Given the description of an element on the screen output the (x, y) to click on. 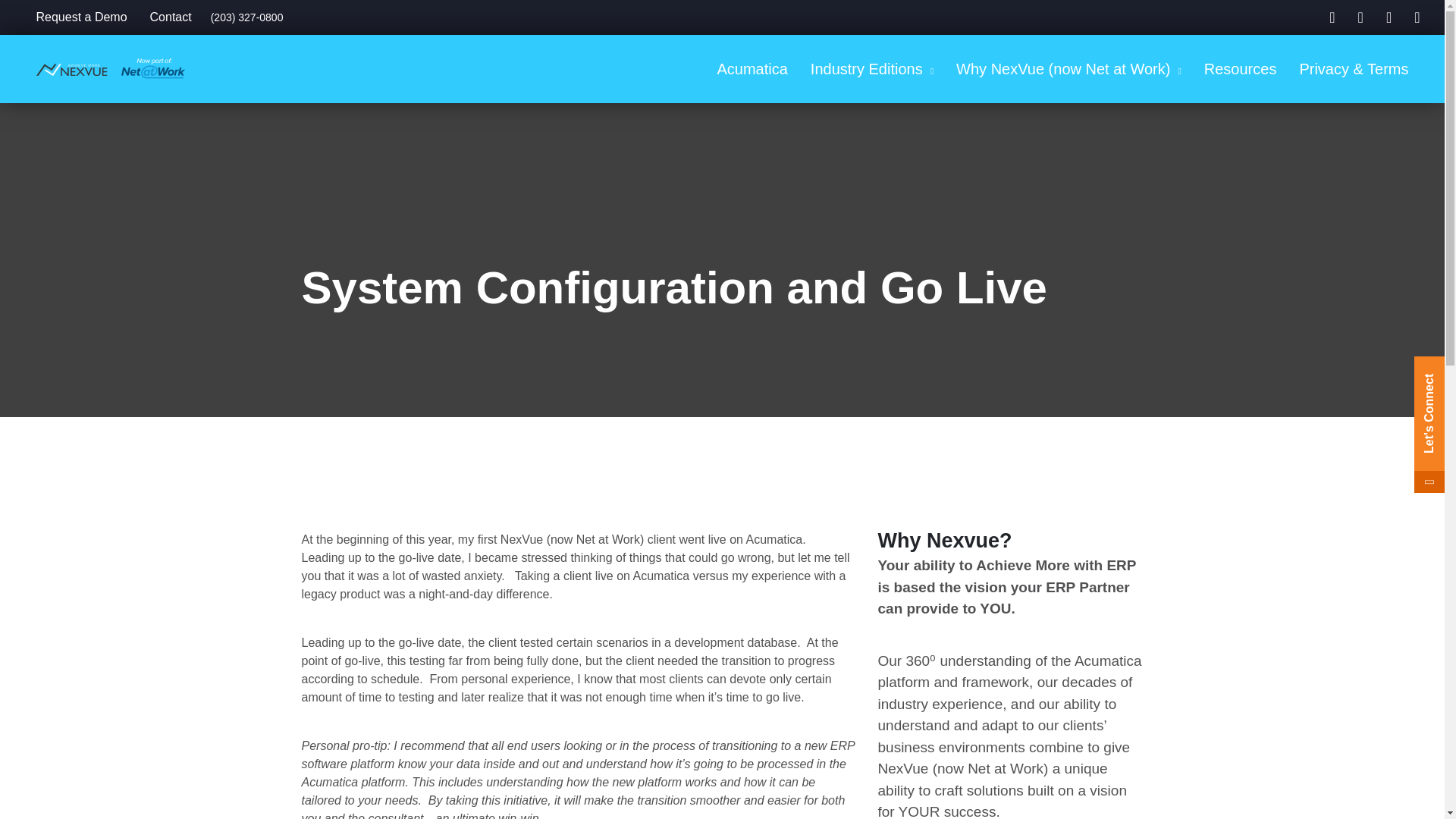
Resources (1240, 69)
Contact (170, 17)
Industry Editions (871, 69)
Request a Demo (81, 17)
Acumatica (750, 69)
